Given the description of an element on the screen output the (x, y) to click on. 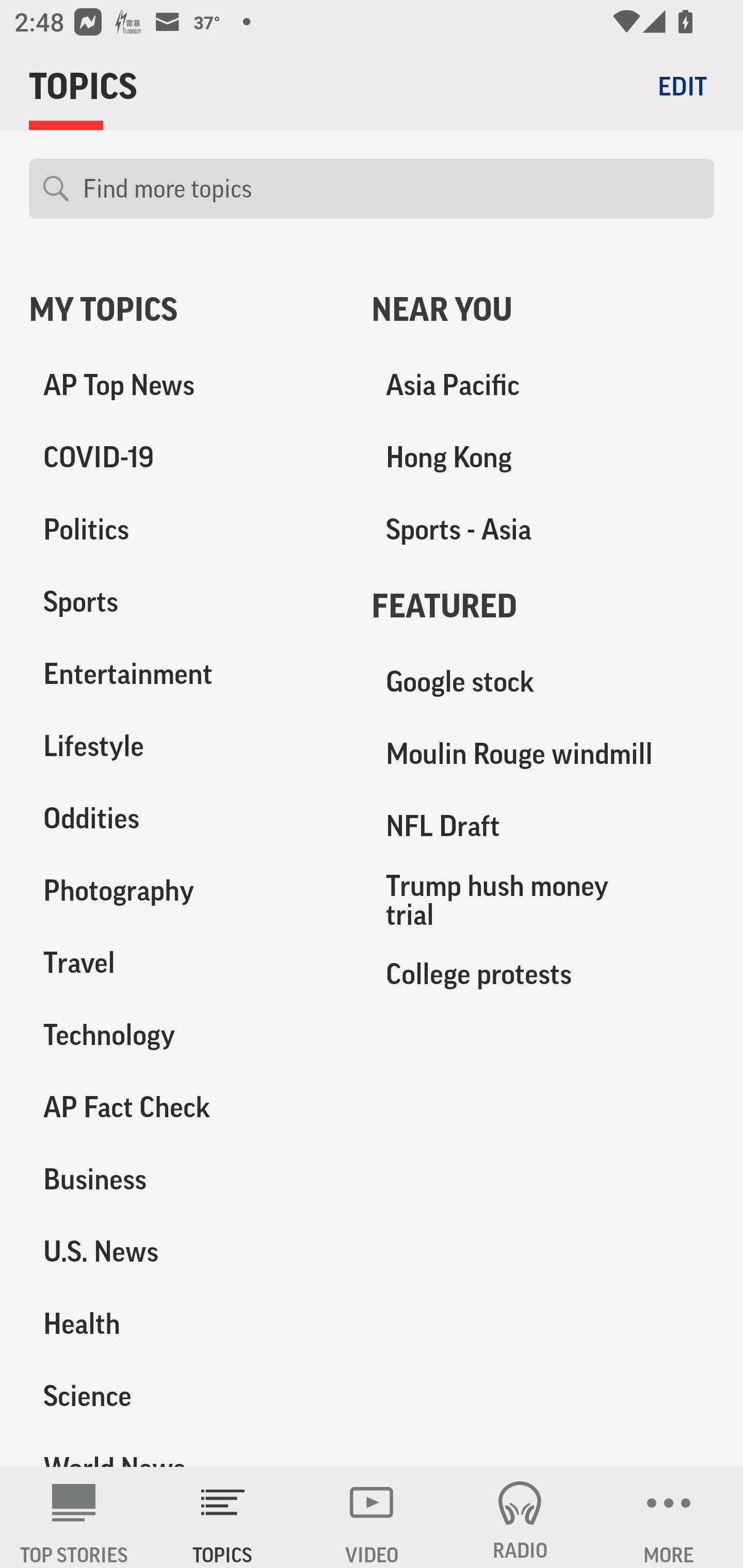
EDIT (682, 86)
Find more topics (391, 188)
AP Top News (185, 385)
Asia Pacific (542, 385)
COVID-19 (185, 457)
Hong Kong (542, 457)
Politics (185, 529)
Sports - Asia (542, 529)
Sports (185, 602)
Entertainment (185, 674)
Google stock (542, 682)
Lifestyle (185, 746)
Moulin Rouge windmill (542, 754)
Oddities (185, 818)
NFL Draft (542, 826)
Photography (185, 890)
Trump hush money trial (542, 899)
Travel (185, 962)
College protests (542, 973)
Technology (185, 1034)
AP Fact Check (185, 1106)
Business (185, 1179)
U.S. News (185, 1251)
Health (185, 1323)
Science (185, 1395)
AP News TOP STORIES (74, 1517)
TOPICS (222, 1517)
VIDEO (371, 1517)
RADIO (519, 1517)
MORE (668, 1517)
